Given the description of an element on the screen output the (x, y) to click on. 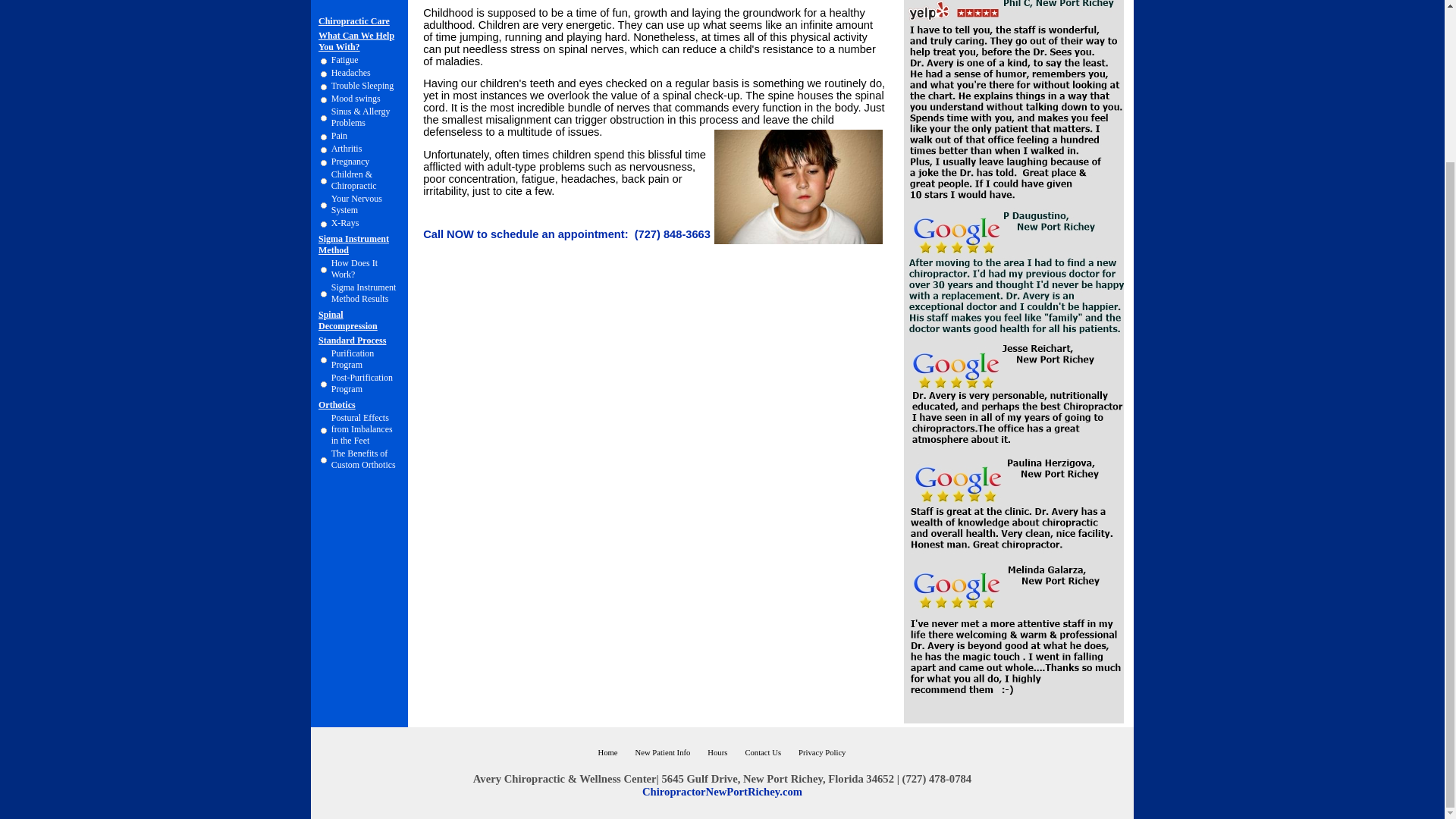
Pregnancy (350, 161)
Trouble Sleeping (362, 85)
Purification Program (352, 359)
Home (607, 752)
Privacy Policy (821, 752)
X-Rays (345, 222)
Standard Process (351, 339)
Chiropractic Care (354, 20)
Pain (339, 135)
Hours (716, 752)
